Given the description of an element on the screen output the (x, y) to click on. 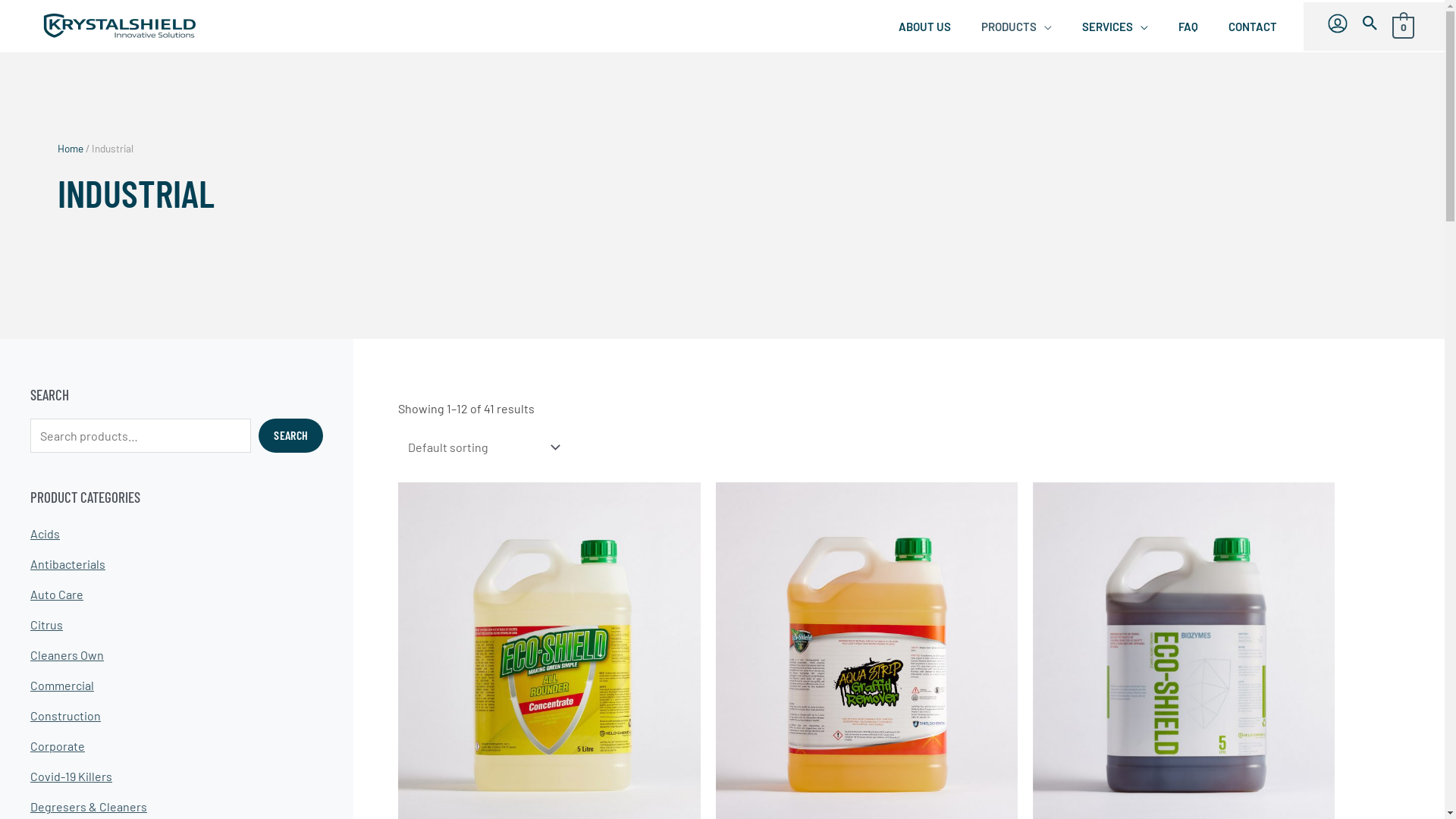
Antibacterials Element type: text (67, 563)
FAQ Element type: text (1184, 26)
SERVICES Element type: text (1111, 26)
CONTACT Element type: text (1248, 26)
Cleaners Own Element type: text (66, 654)
Construction Element type: text (65, 715)
Acids Element type: text (44, 533)
Citrus Element type: text (46, 624)
Covid-19 Killers Element type: text (71, 775)
PRODUCTS Element type: text (1012, 26)
ABOUT US Element type: text (920, 26)
Corporate Element type: text (57, 745)
Commercial Element type: text (62, 684)
Degresers & Cleaners Element type: text (88, 806)
0 Element type: text (1403, 25)
Auto Care Element type: text (56, 593)
Home Element type: text (70, 147)
SEARCH Element type: text (290, 435)
